Given the description of an element on the screen output the (x, y) to click on. 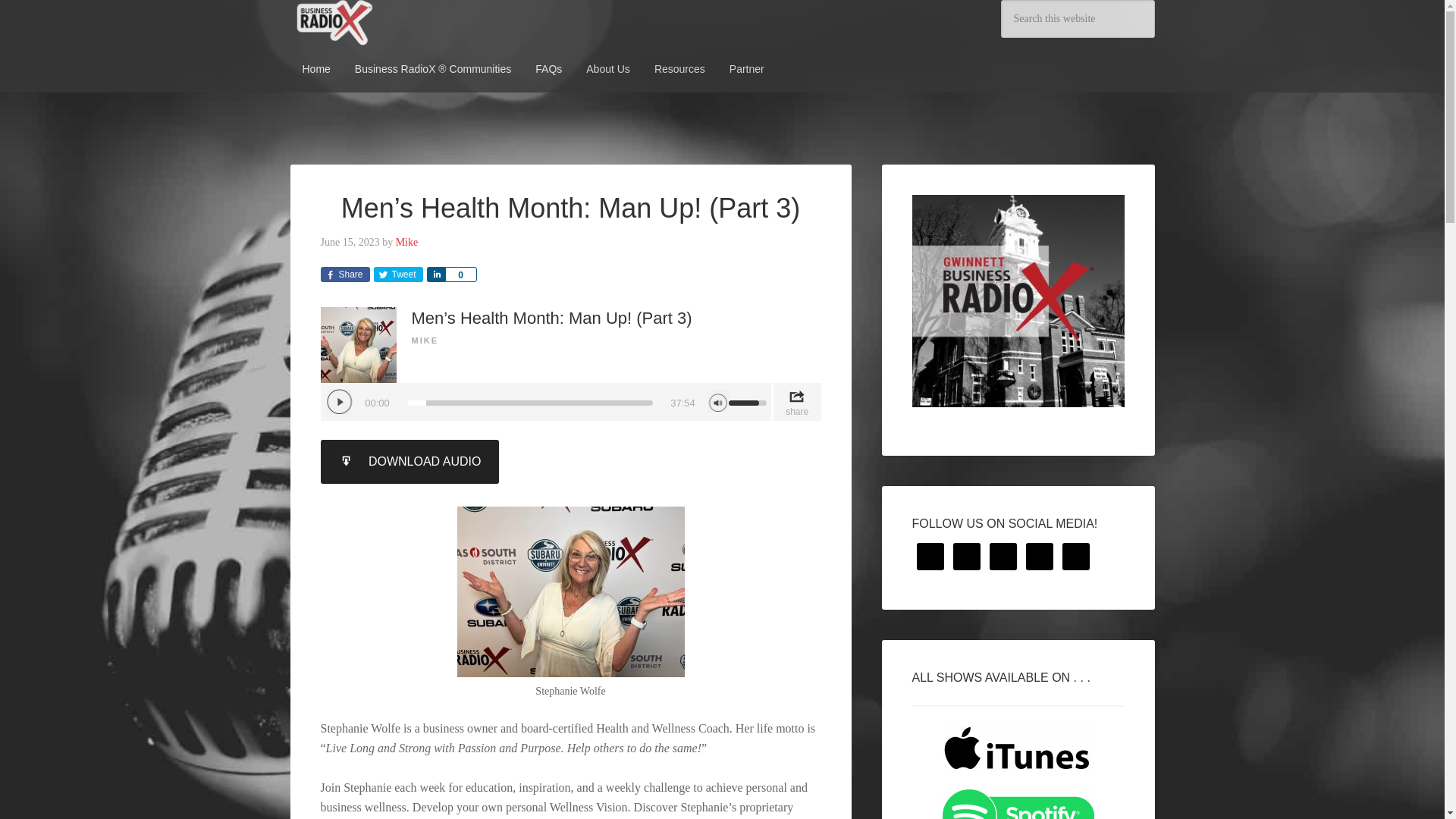
Mute (717, 400)
Home (315, 68)
Play (339, 401)
